Given the description of an element on the screen output the (x, y) to click on. 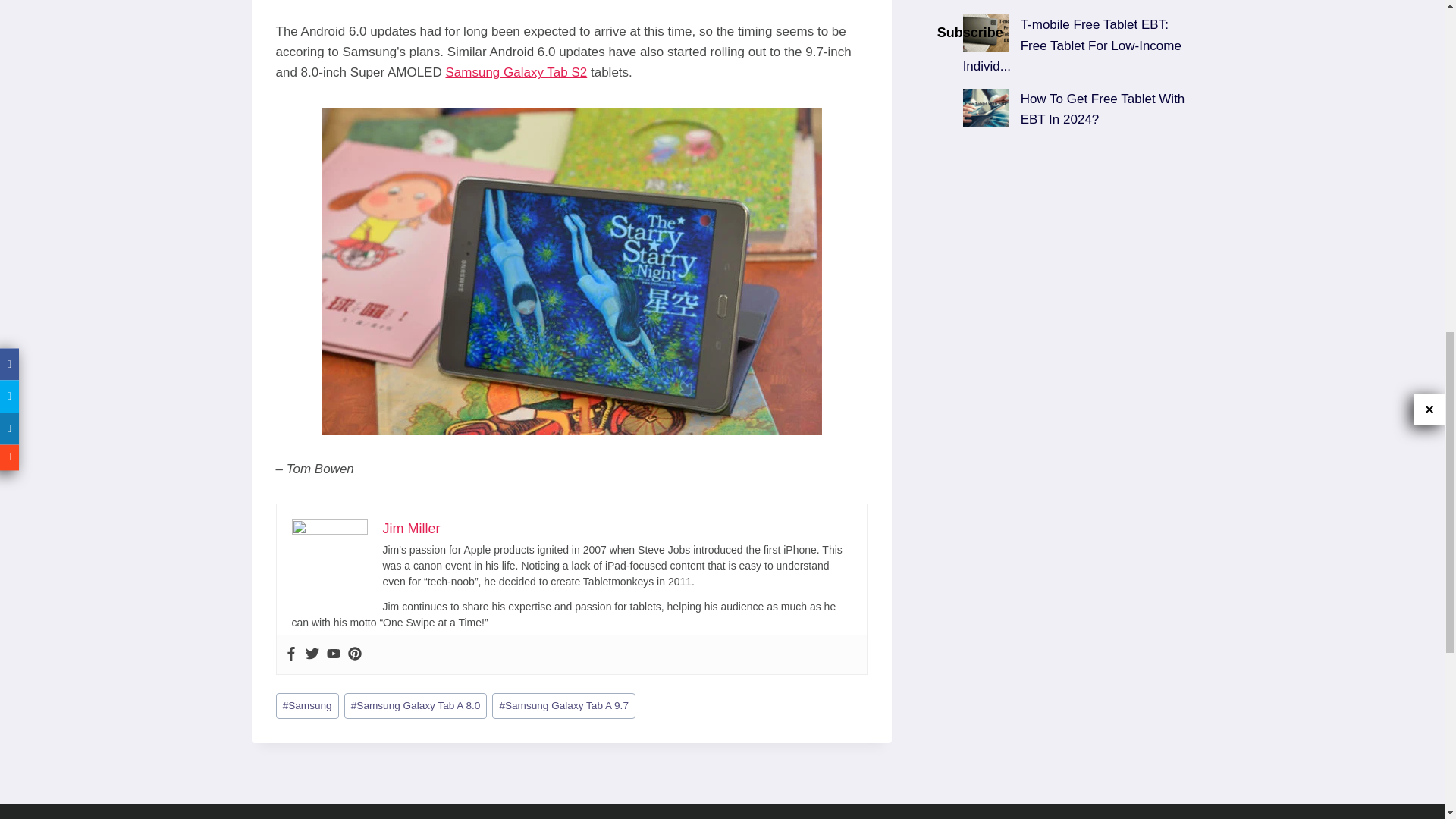
Samsung Galaxy Tab S2 (515, 72)
Samsung Galaxy Tab A 8.0 (415, 705)
Jim Miller (410, 528)
Samsung Galaxy Tab A 9.7 (563, 705)
Samsung (307, 705)
